Given the description of an element on the screen output the (x, y) to click on. 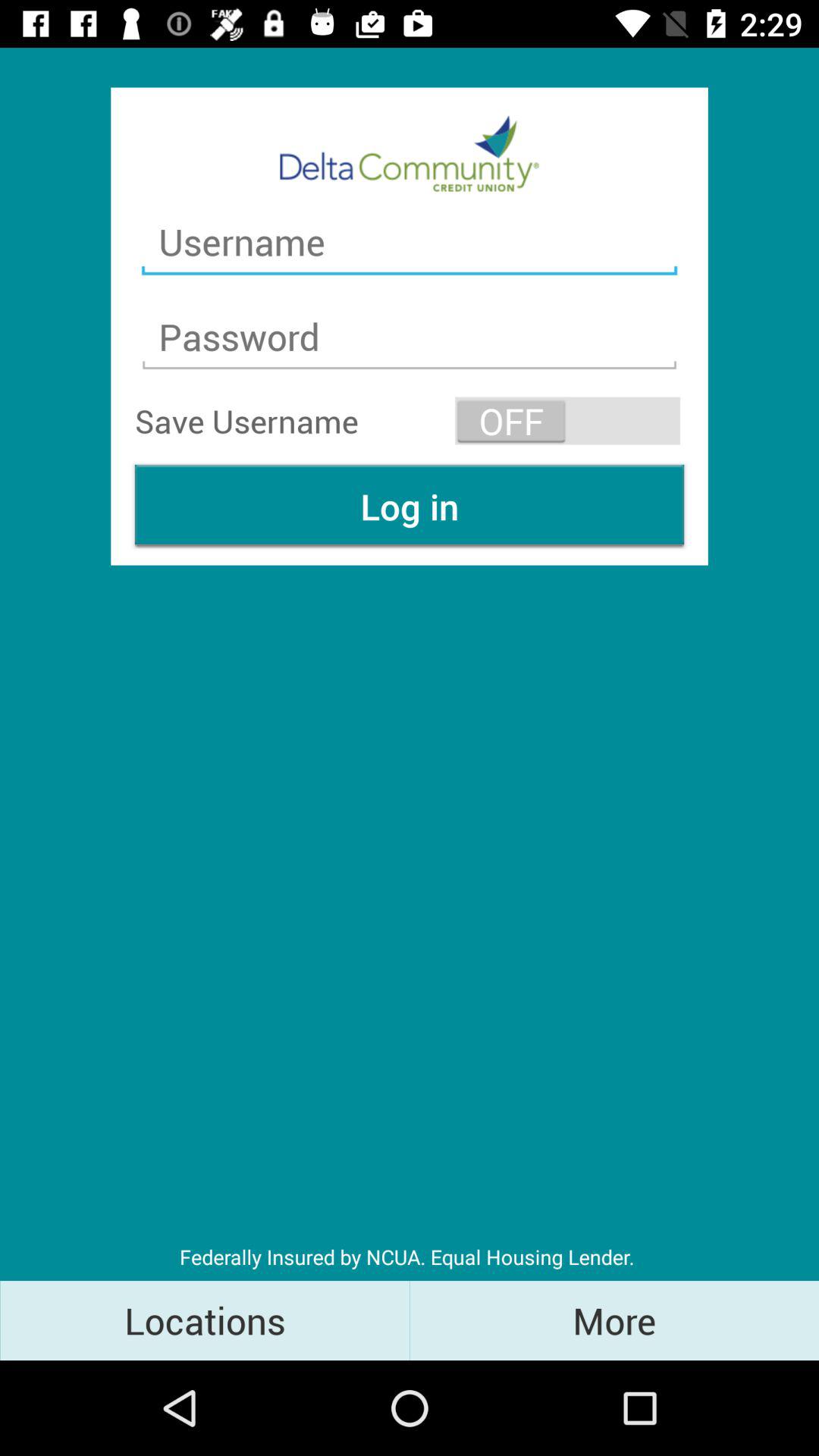
tap item next to save username item (567, 420)
